Given the description of an element on the screen output the (x, y) to click on. 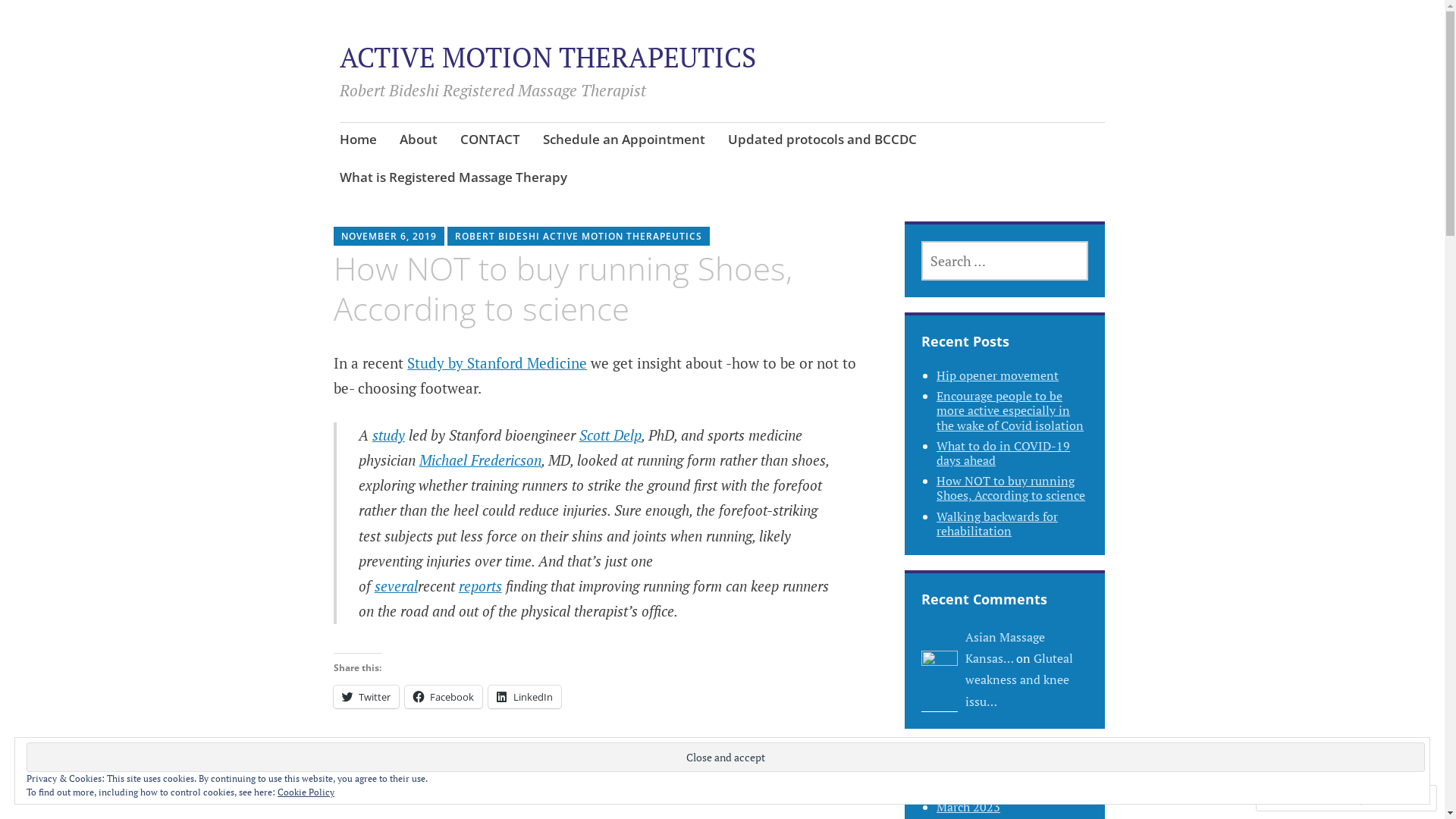
Close and accept Element type: text (725, 756)
NOVEMBER 6, 2019 Element type: text (388, 235)
What to do in COVID-19 days ahead Element type: text (1003, 452)
Scott Delp Element type: text (610, 434)
ROBERT BIDESHI ACTIVE MOTION THERAPEUTICS Element type: text (578, 235)
Asian Massage Kansas City Element type: hover (939, 669)
Hip opener movement Element type: text (997, 375)
Facebook Element type: text (443, 696)
Study by Stanford Medicine Element type: text (496, 362)
Comment Element type: text (1296, 797)
Schedule an Appointment Element type: text (623, 140)
Updated protocols and BCCDC Element type: text (822, 140)
several Element type: text (395, 585)
March 2023 Element type: text (968, 806)
reports Element type: text (480, 585)
Walking backwards for rehabilitation Element type: text (996, 523)
CONTACT Element type: text (490, 140)
Home Element type: text (357, 140)
UNCATEGORIZED Element type: text (390, 785)
Follow Element type: text (1372, 797)
How NOT to buy running Shoes, According to science Element type: text (1010, 487)
Michael Fredericson Element type: text (480, 459)
ACTIVE MOTION THERAPEUTICS Element type: text (547, 57)
About Element type: text (418, 140)
Cookie Policy Element type: text (305, 791)
LinkedIn Element type: text (524, 696)
Search Element type: text (173, 17)
Twitter Element type: text (365, 696)
What is Registered Massage Therapy Element type: text (453, 178)
study Element type: text (388, 434)
